Given the description of an element on the screen output the (x, y) to click on. 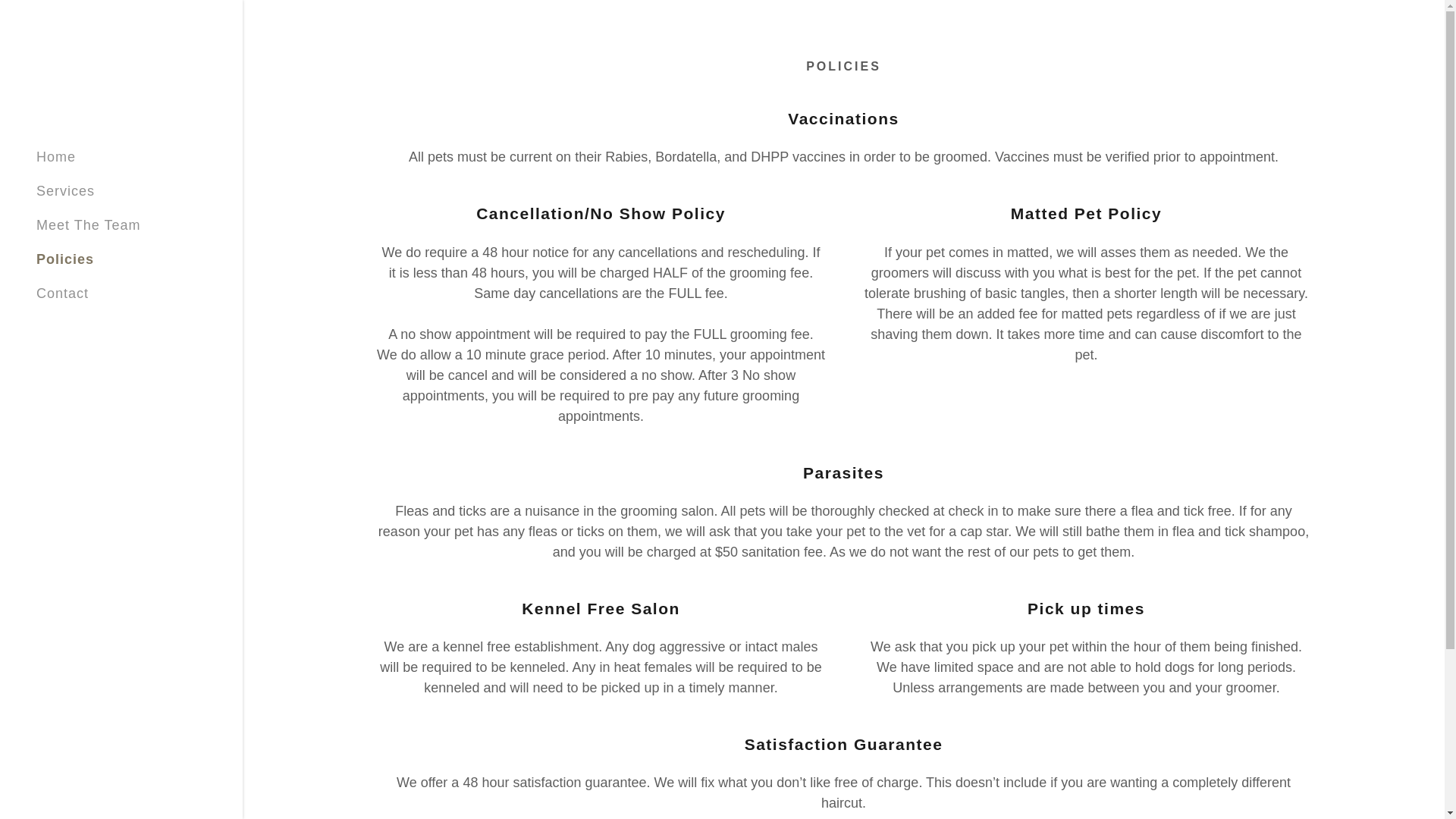
Policies (65, 258)
Services (65, 191)
Contact (62, 293)
Home (55, 156)
Meet The Team (87, 224)
